Given the description of an element on the screen output the (x, y) to click on. 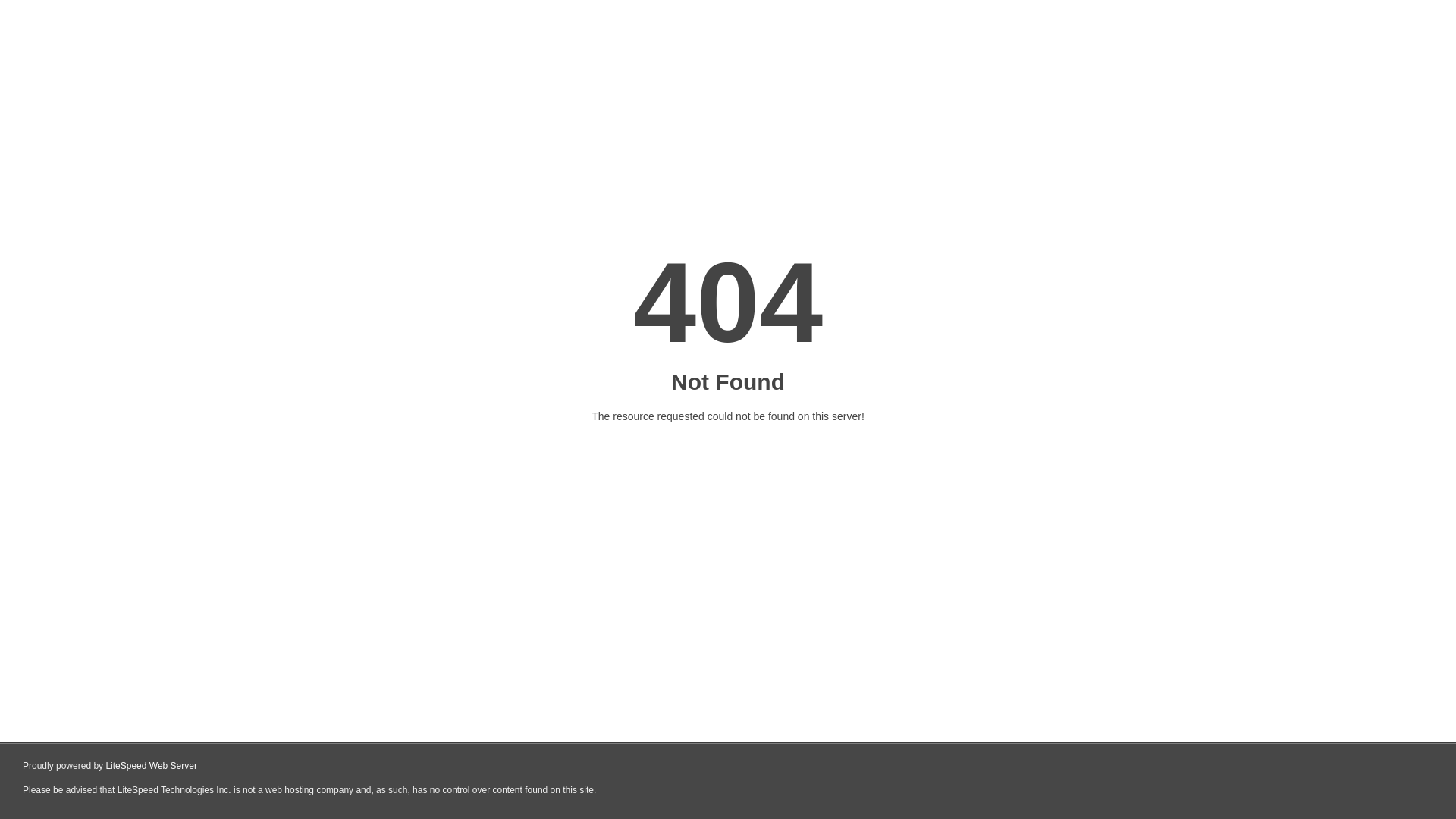
LiteSpeed Web Server Element type: text (151, 765)
